Given the description of an element on the screen output the (x, y) to click on. 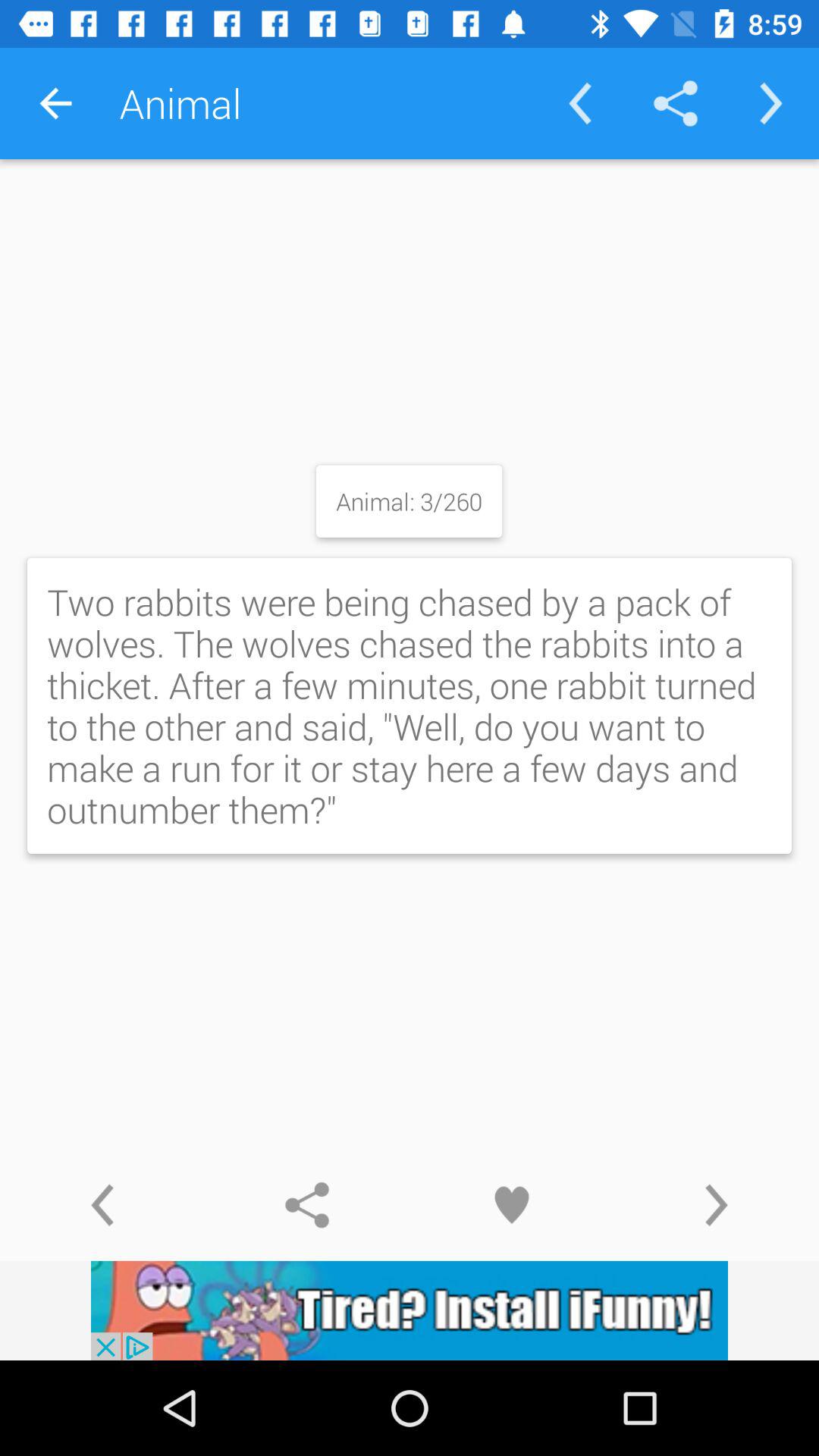
open advertisement (409, 1310)
